Given the description of an element on the screen output the (x, y) to click on. 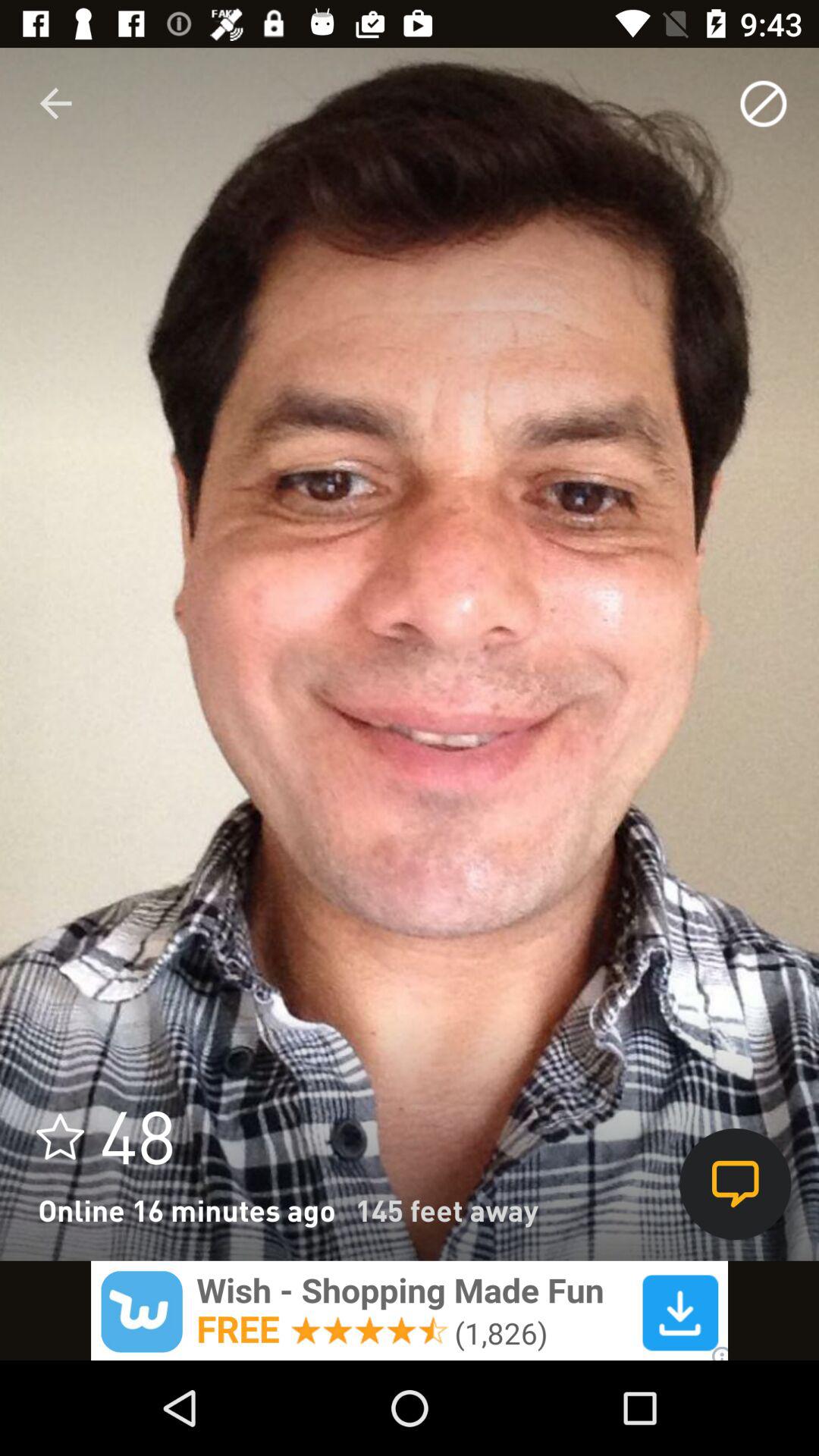
chat button (735, 1183)
